Given the description of an element on the screen output the (x, y) to click on. 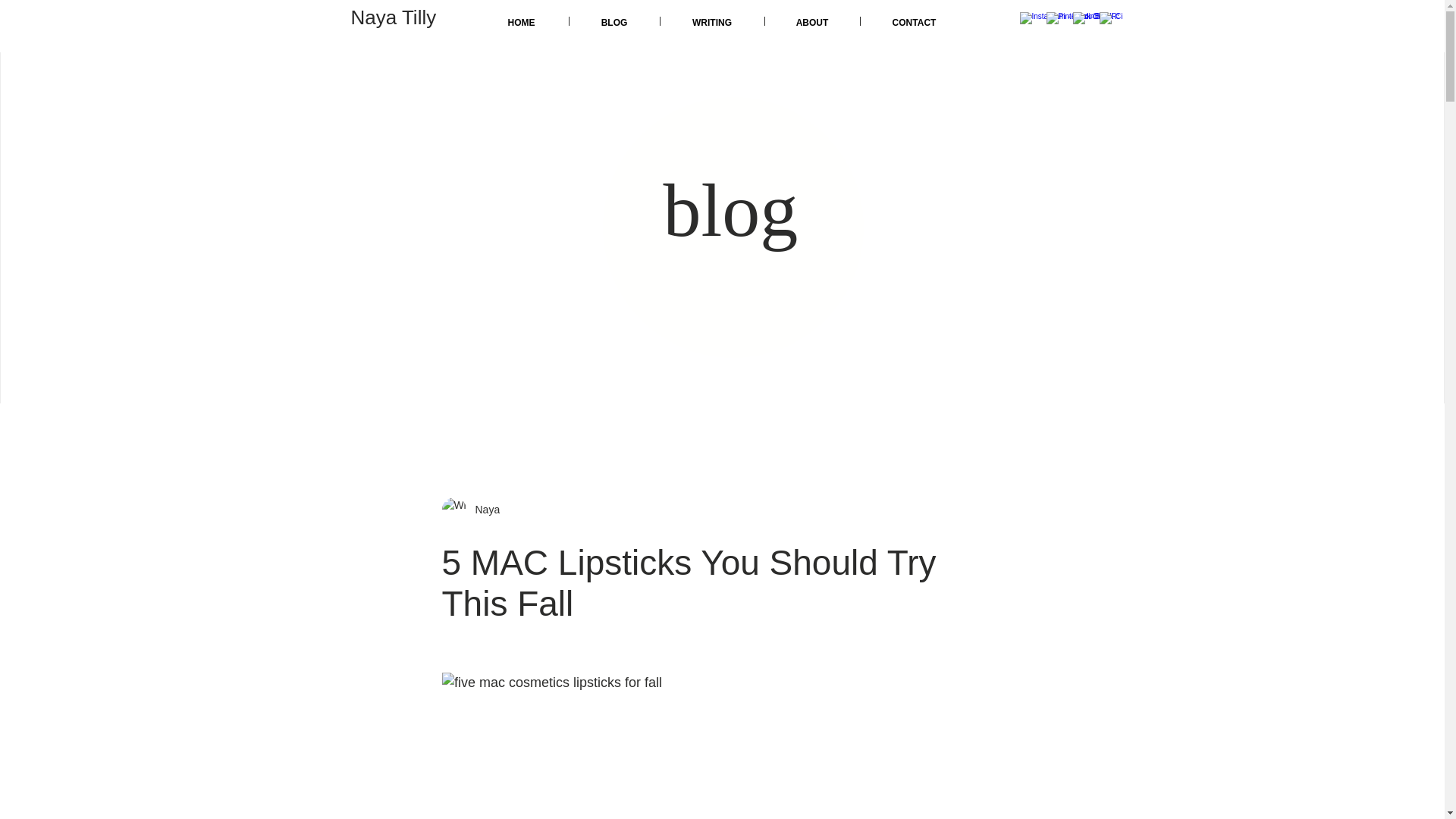
WRITING (710, 20)
Naya (482, 509)
HOME (521, 20)
BLOG (614, 20)
ABOUT (811, 20)
CONTACT (914, 20)
